Given the description of an element on the screen output the (x, y) to click on. 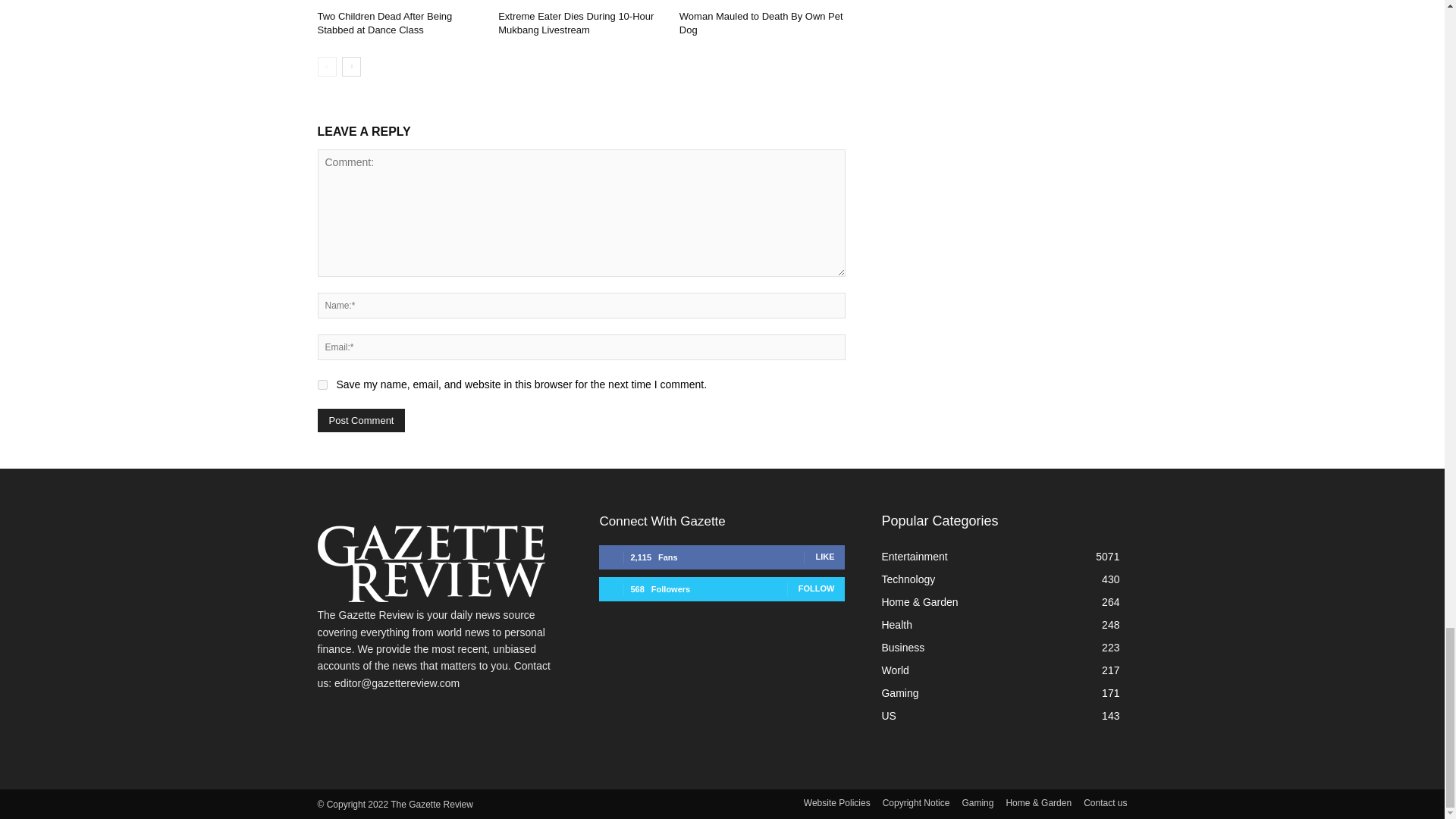
yes (321, 384)
Post Comment (360, 420)
